Given the description of an element on the screen output the (x, y) to click on. 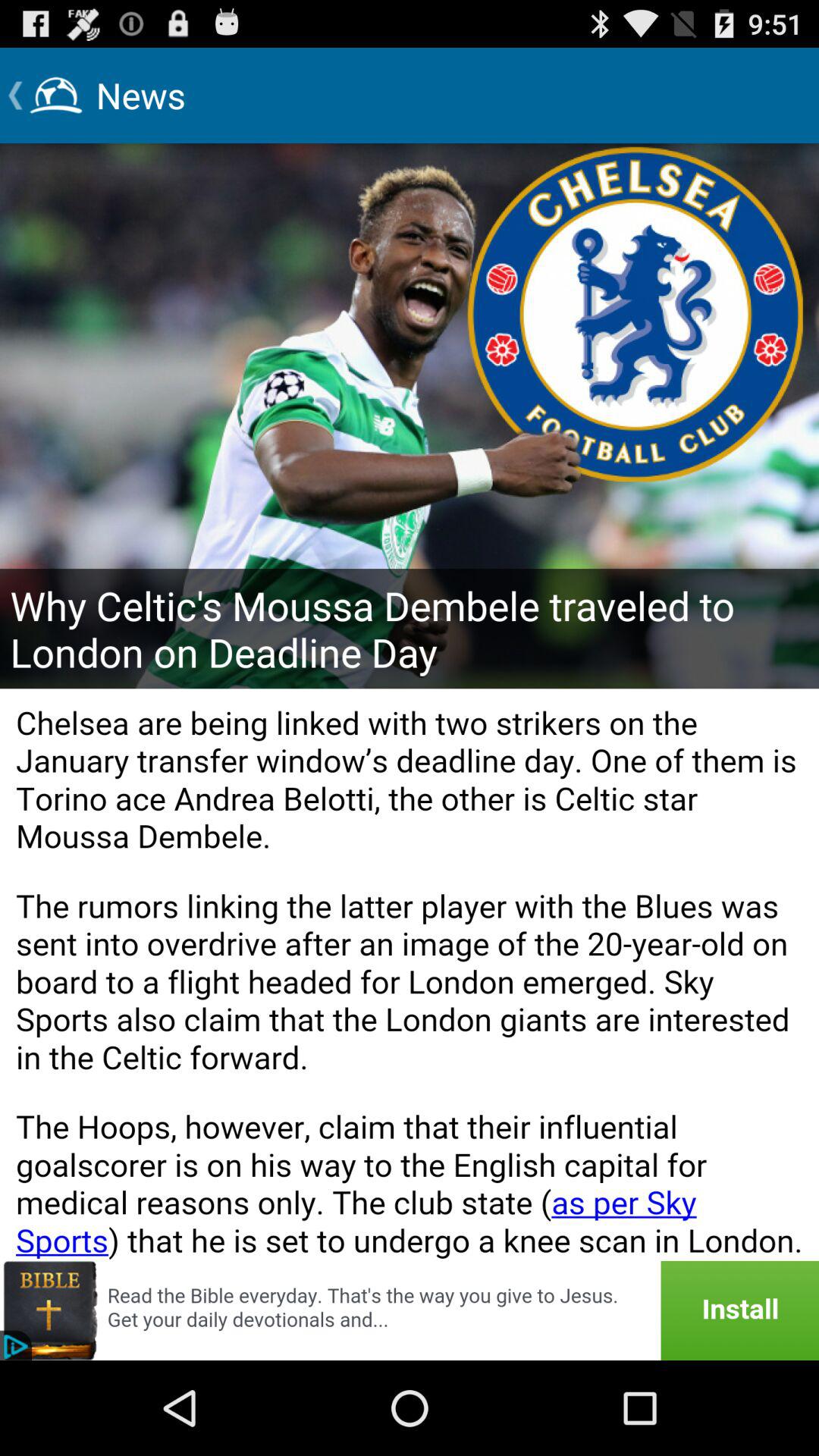
bible install (409, 1310)
